Given the description of an element on the screen output the (x, y) to click on. 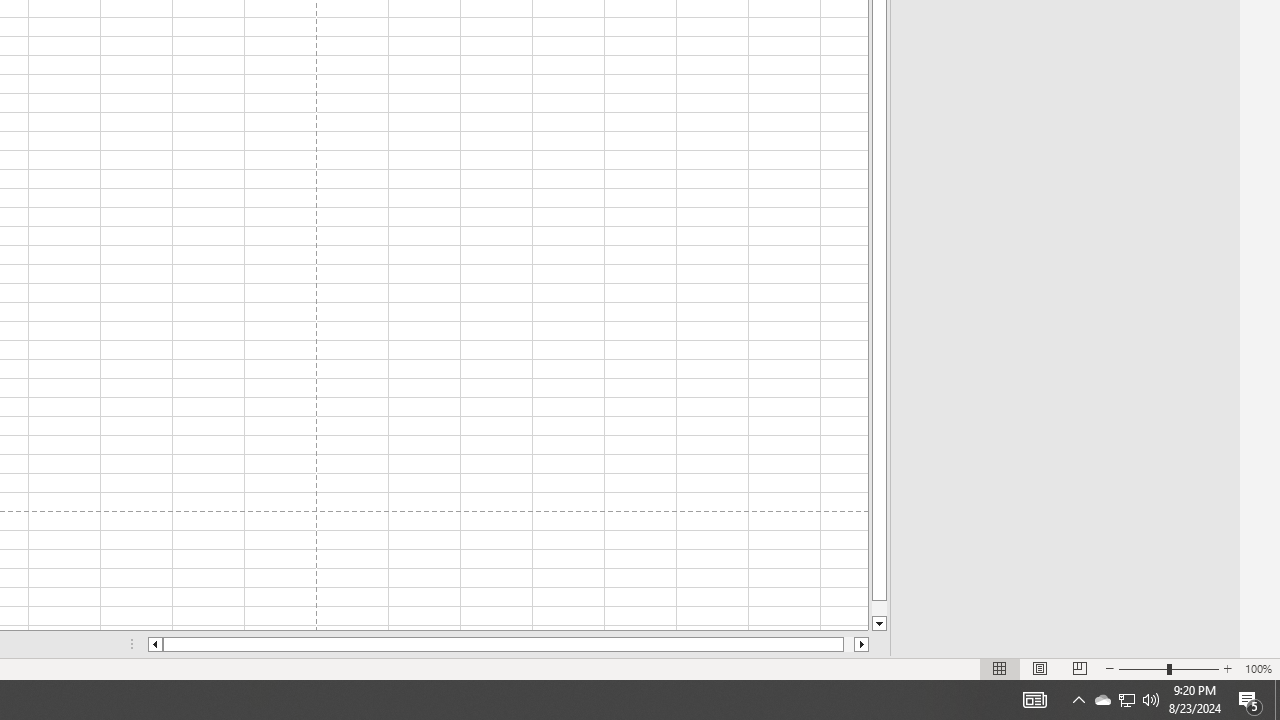
Zoom (1168, 668)
Column left (153, 644)
Show desktop (1277, 699)
Page right (1102, 699)
Column right (848, 644)
